Given the description of an element on the screen output the (x, y) to click on. 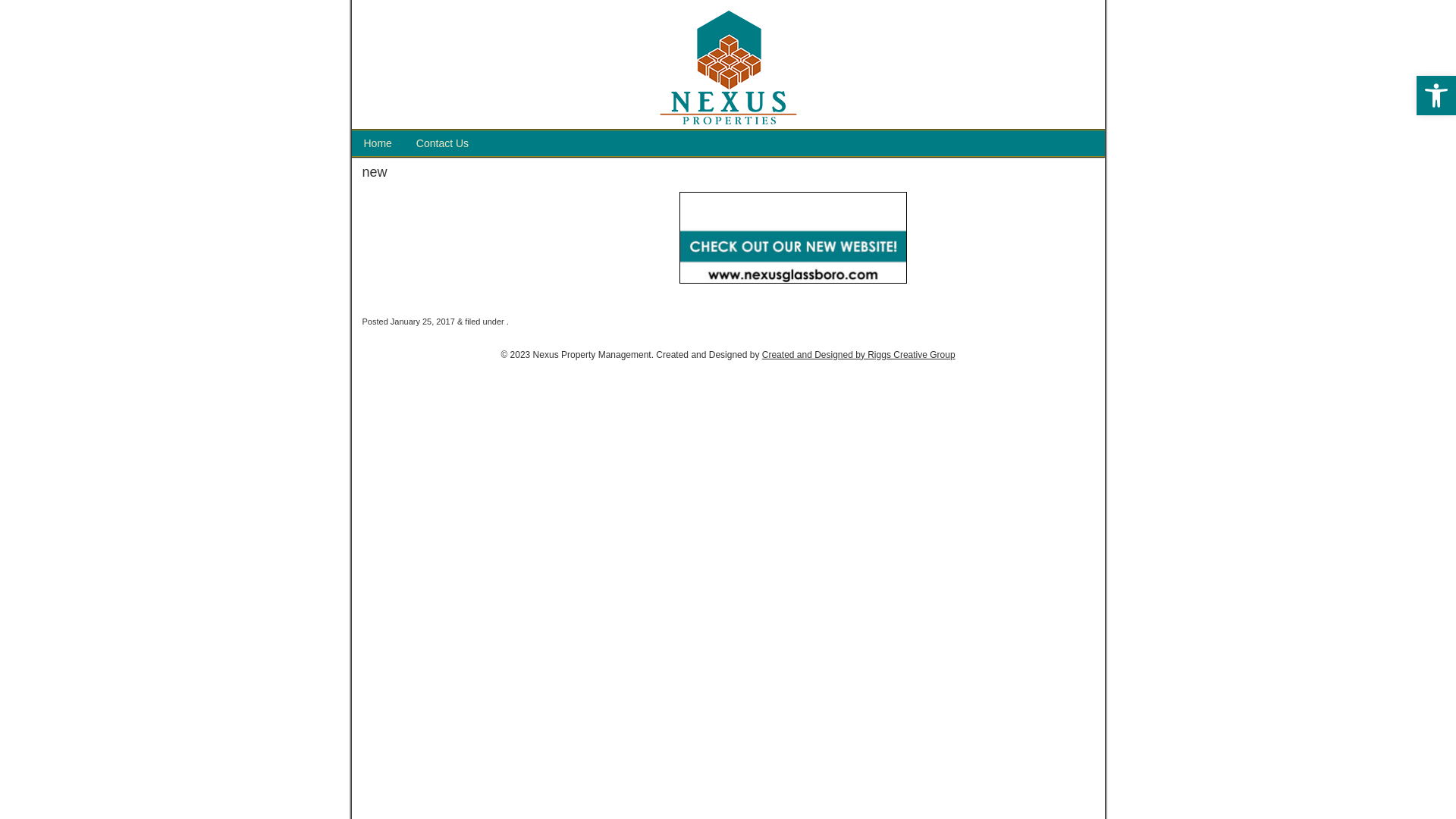
Contact Us Element type: text (442, 143)
Created and Designed by Riggs Creative Group Element type: text (858, 354)
Home Element type: text (377, 143)
